Given the description of an element on the screen output the (x, y) to click on. 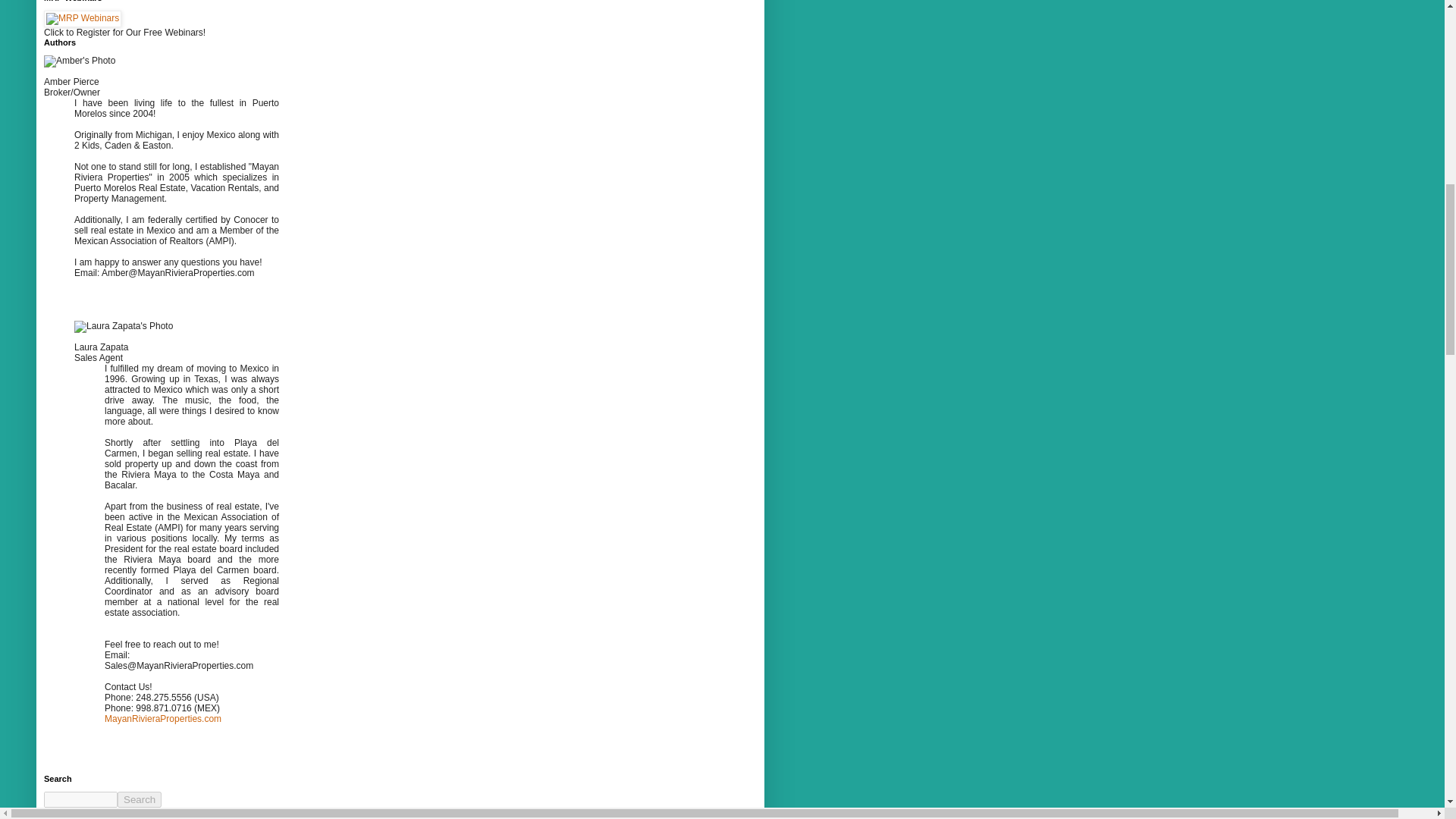
Search (139, 799)
Search (139, 799)
search (80, 799)
Search (139, 799)
MayanRivieraProperties.com (162, 718)
search (139, 799)
